Given the description of an element on the screen output the (x, y) to click on. 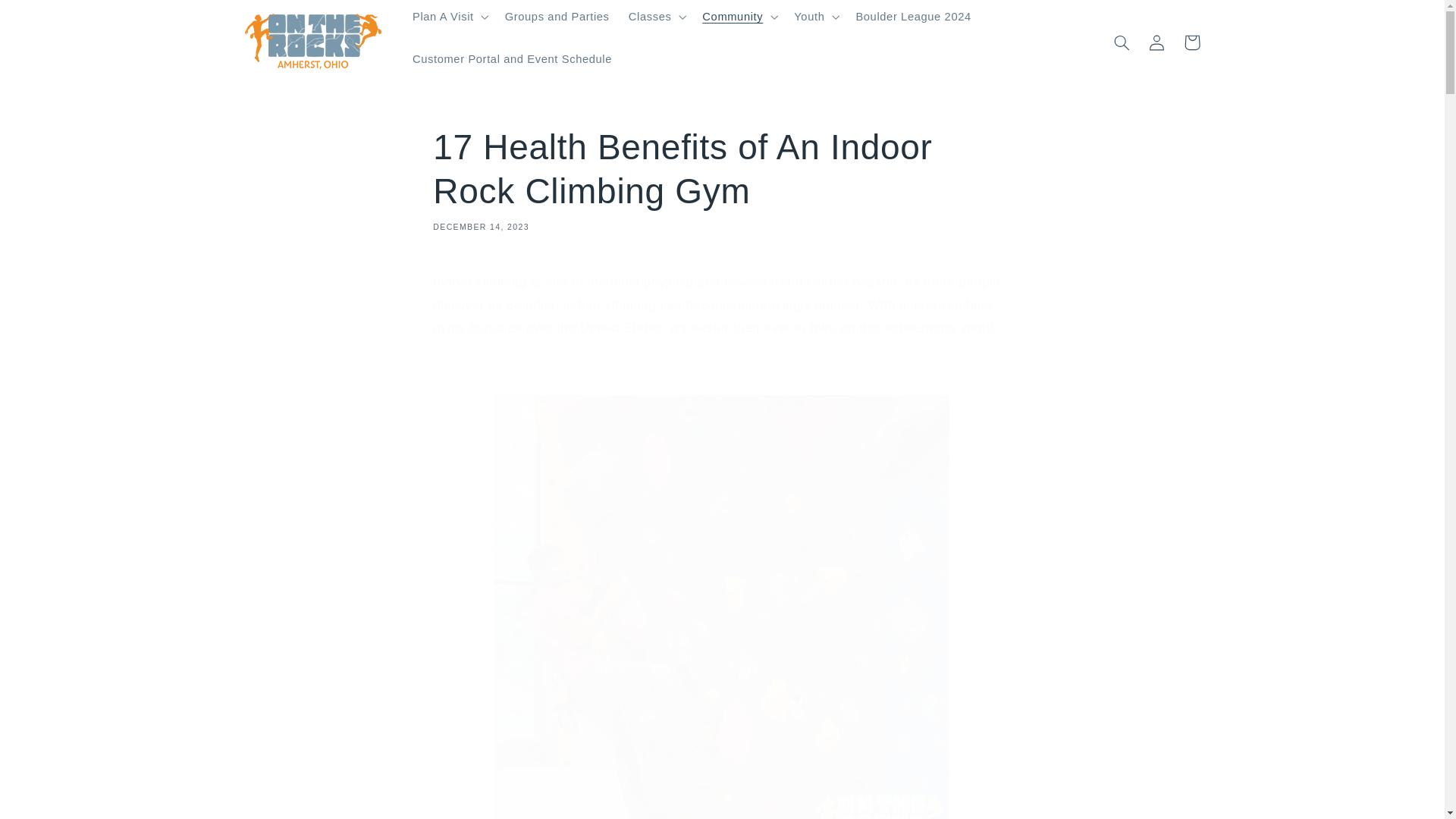
Groups and Parties (556, 16)
Skip to content (48, 18)
